Given the description of an element on the screen output the (x, y) to click on. 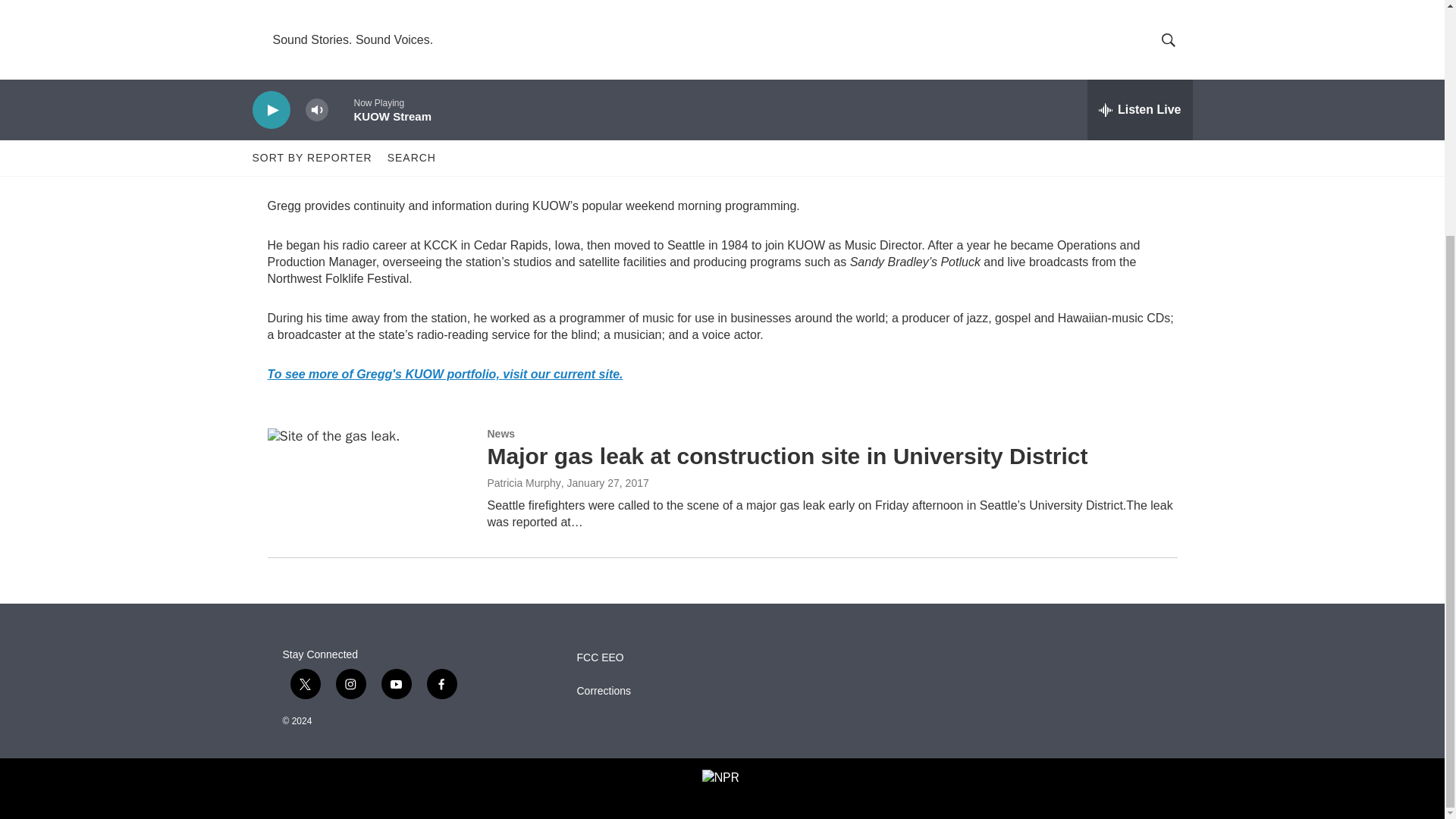
Major gas leak at construction site in University District (786, 455)
Patricia Murphy (523, 482)
instagram (349, 684)
Corrections (668, 691)
facebook (441, 684)
twitter (403, 92)
twitter (304, 684)
FCC EEO (668, 657)
youtube (395, 684)
News (500, 433)
